Given the description of an element on the screen output the (x, y) to click on. 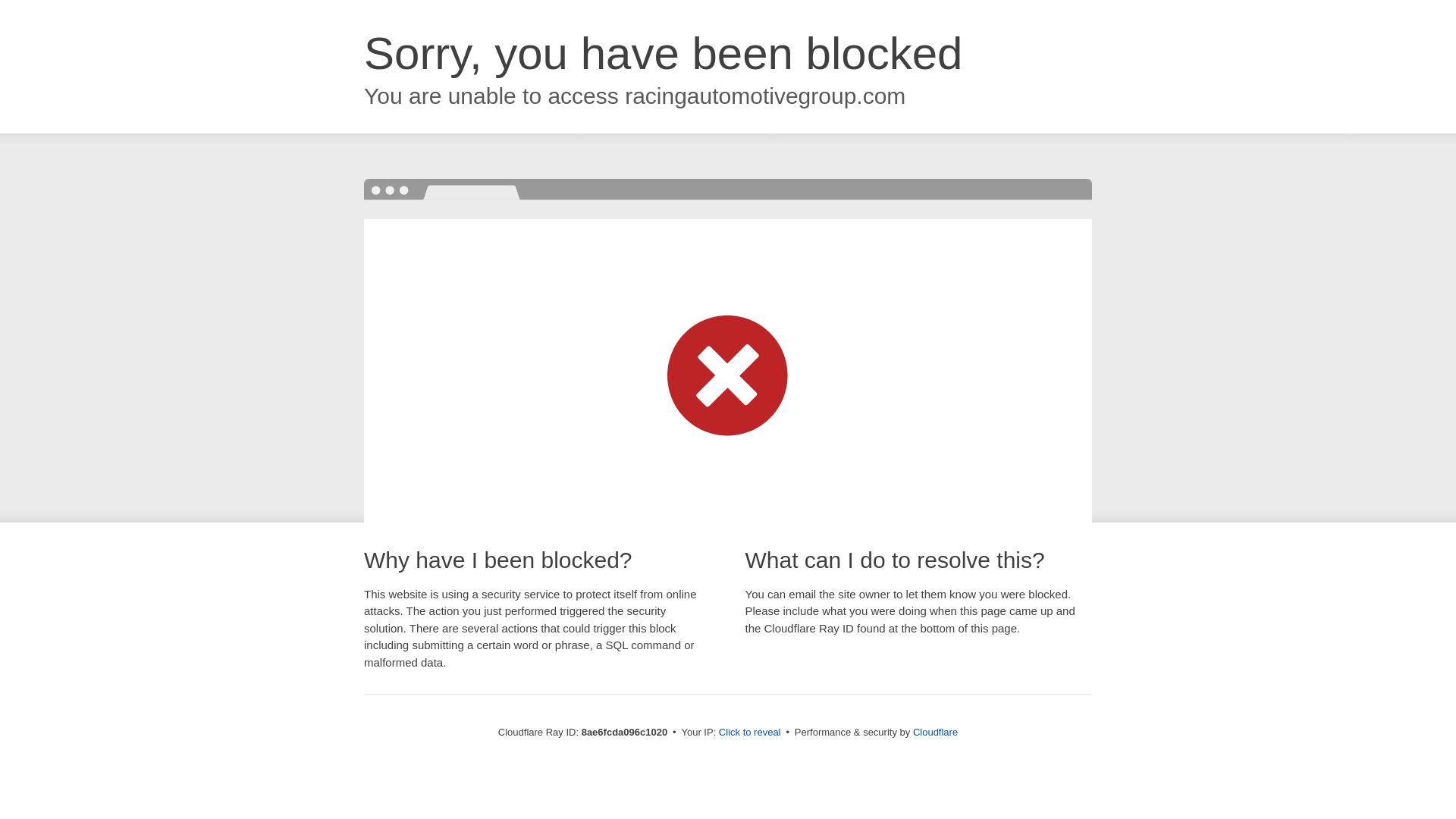
Cloudflare (935, 731)
Click to reveal (749, 732)
